Given the description of an element on the screen output the (x, y) to click on. 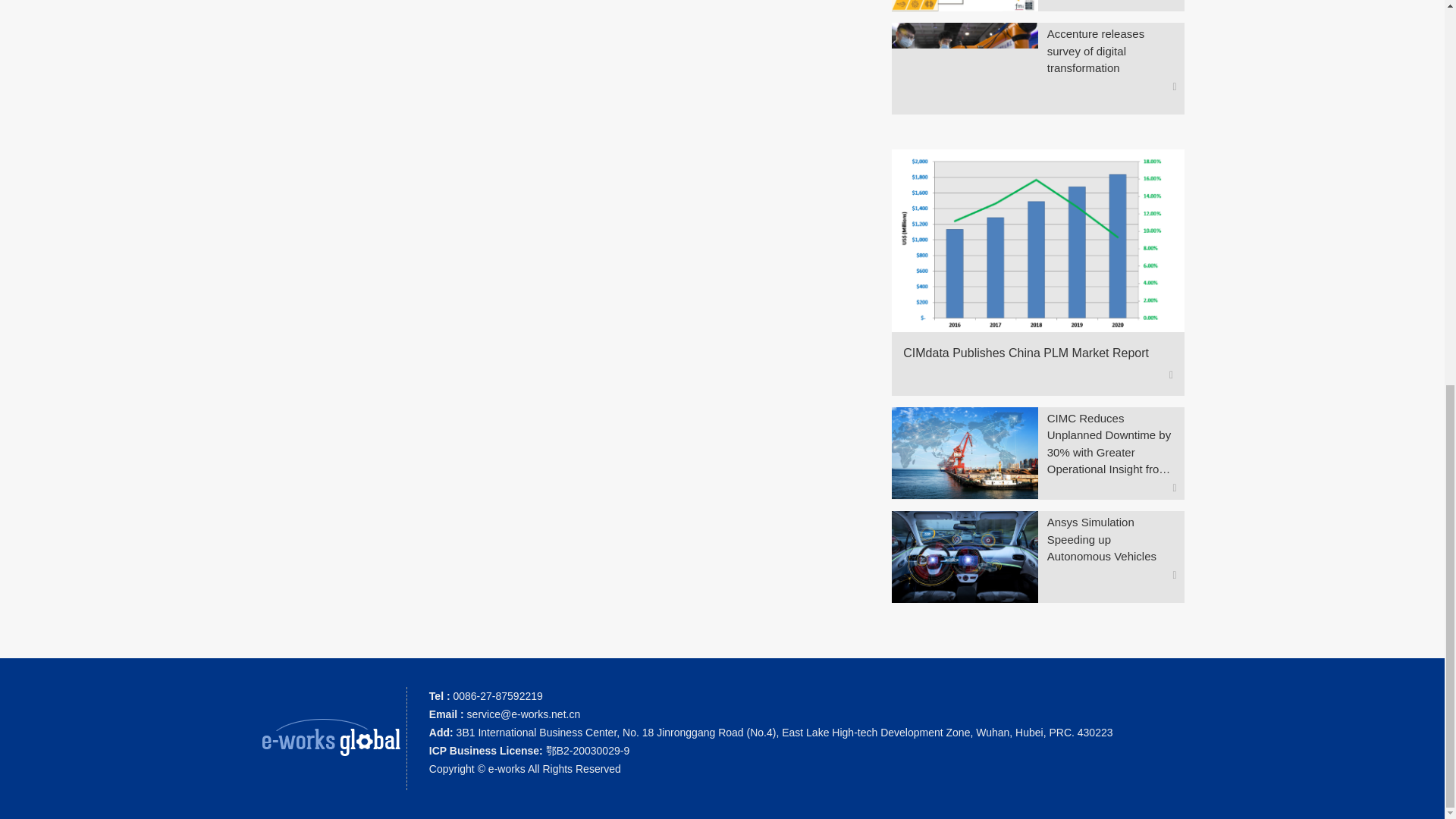
Ansys Simulation Speeding up Autonomous Vehicles (1111, 539)
CIMdata Publishes China PLM Market Report (1030, 352)
Accenture releases survey of digital transformation (1111, 50)
